Given the description of an element on the screen output the (x, y) to click on. 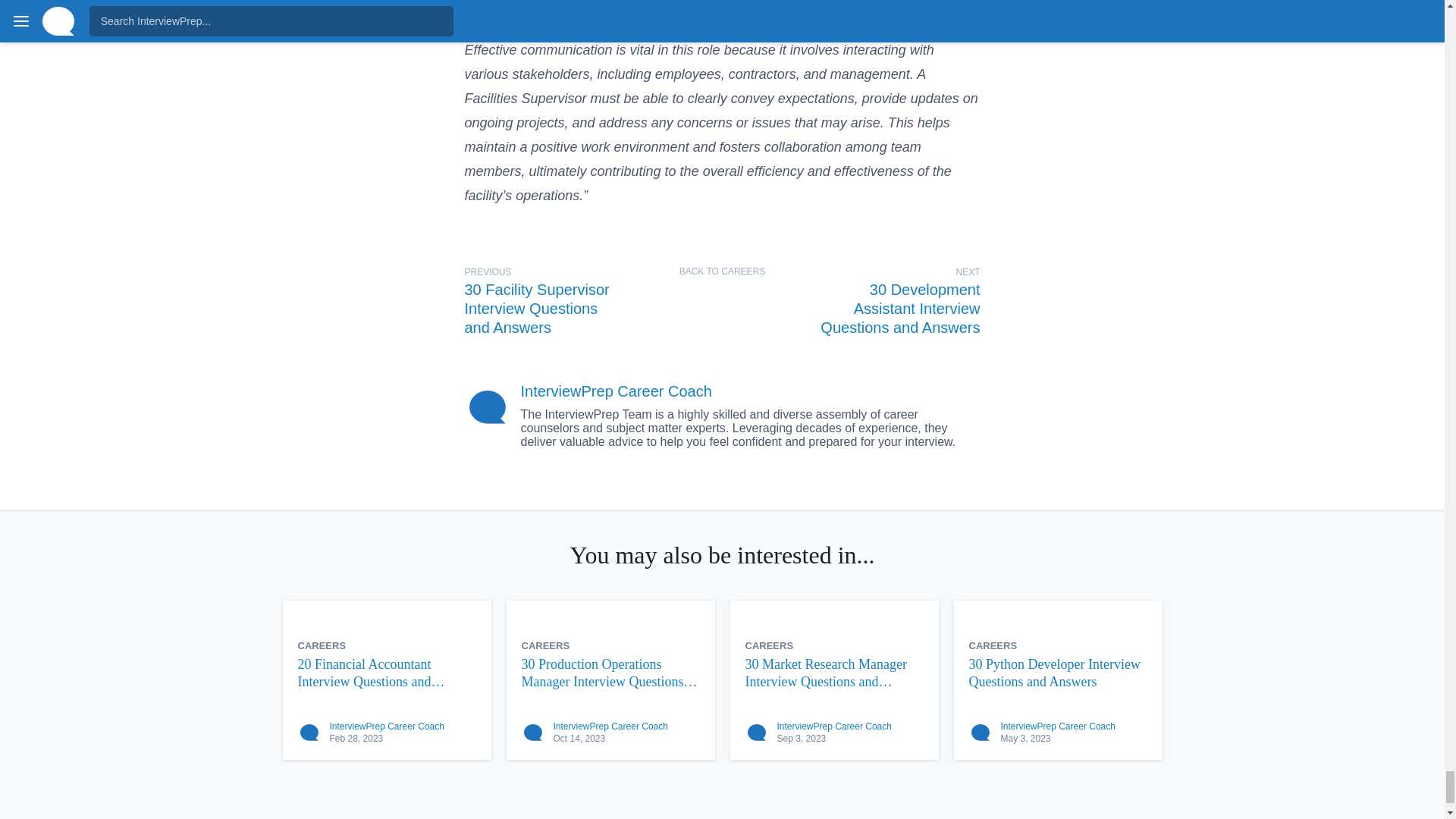
InterviewPrep Career Coach (1058, 726)
20 Financial Accountant Interview Questions and Answers (386, 673)
InterviewPrep Career Coach (610, 726)
30 Python Developer Interview Questions and Answers (1058, 673)
CAREERS (545, 645)
CAREERS (768, 645)
InterviewPrep Career Coach (386, 726)
CAREERS (321, 645)
BACK TO CAREERS (722, 271)
CAREERS (993, 645)
InterviewPrep Career Coach (615, 391)
InterviewPrep Career Coach (833, 726)
